Given the description of an element on the screen output the (x, y) to click on. 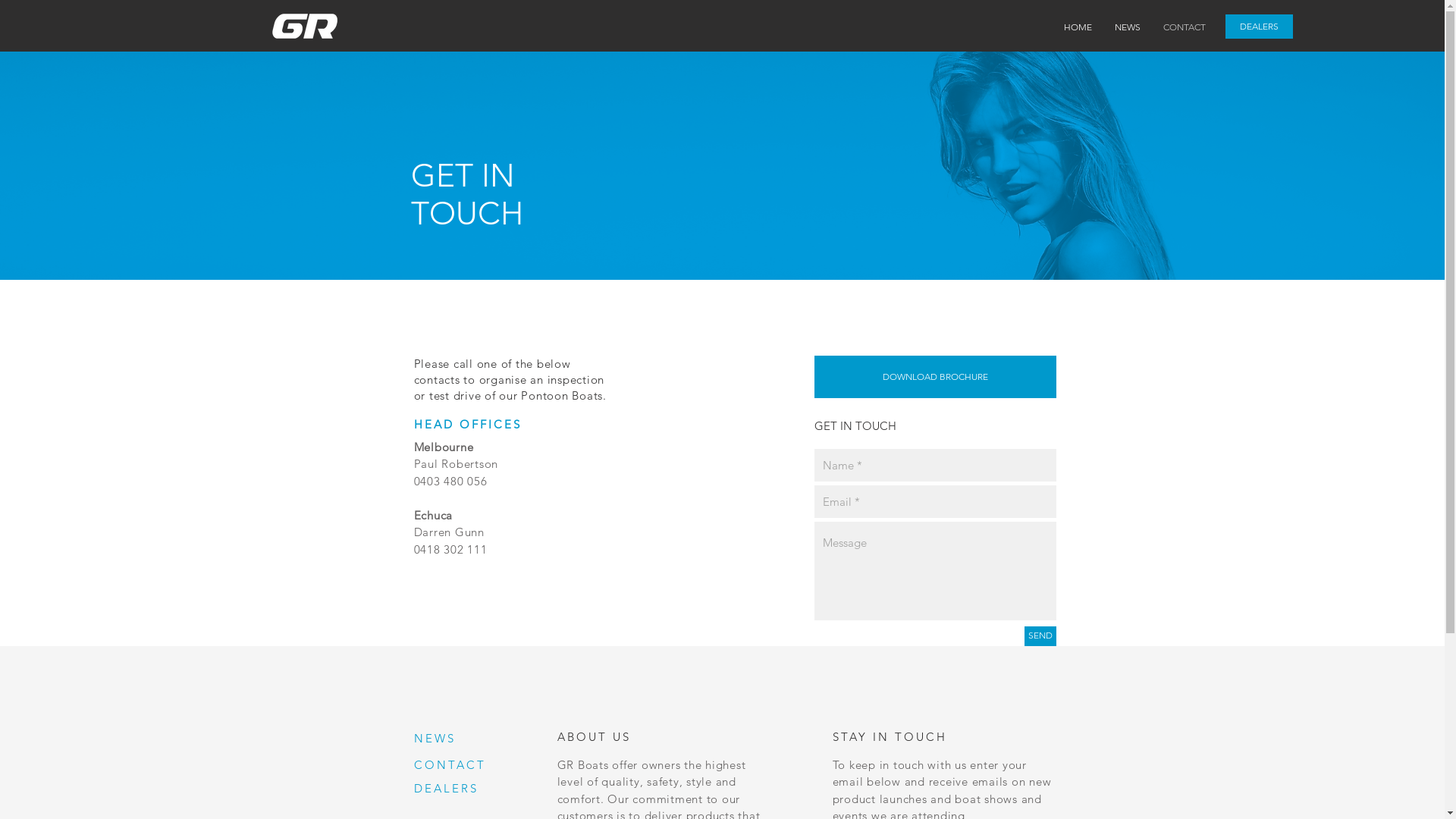
SEND Element type: text (1039, 636)
DOWNLOAD BROCHURE Element type: text (935, 376)
NEWS Element type: text (1127, 26)
DEALERS Element type: text (446, 788)
CONTACT Element type: text (450, 763)
NEWS Element type: text (434, 738)
CONTACT Element type: text (1184, 26)
DEALERS Element type: text (1258, 26)
HOME Element type: text (1077, 26)
